Given the description of an element on the screen output the (x, y) to click on. 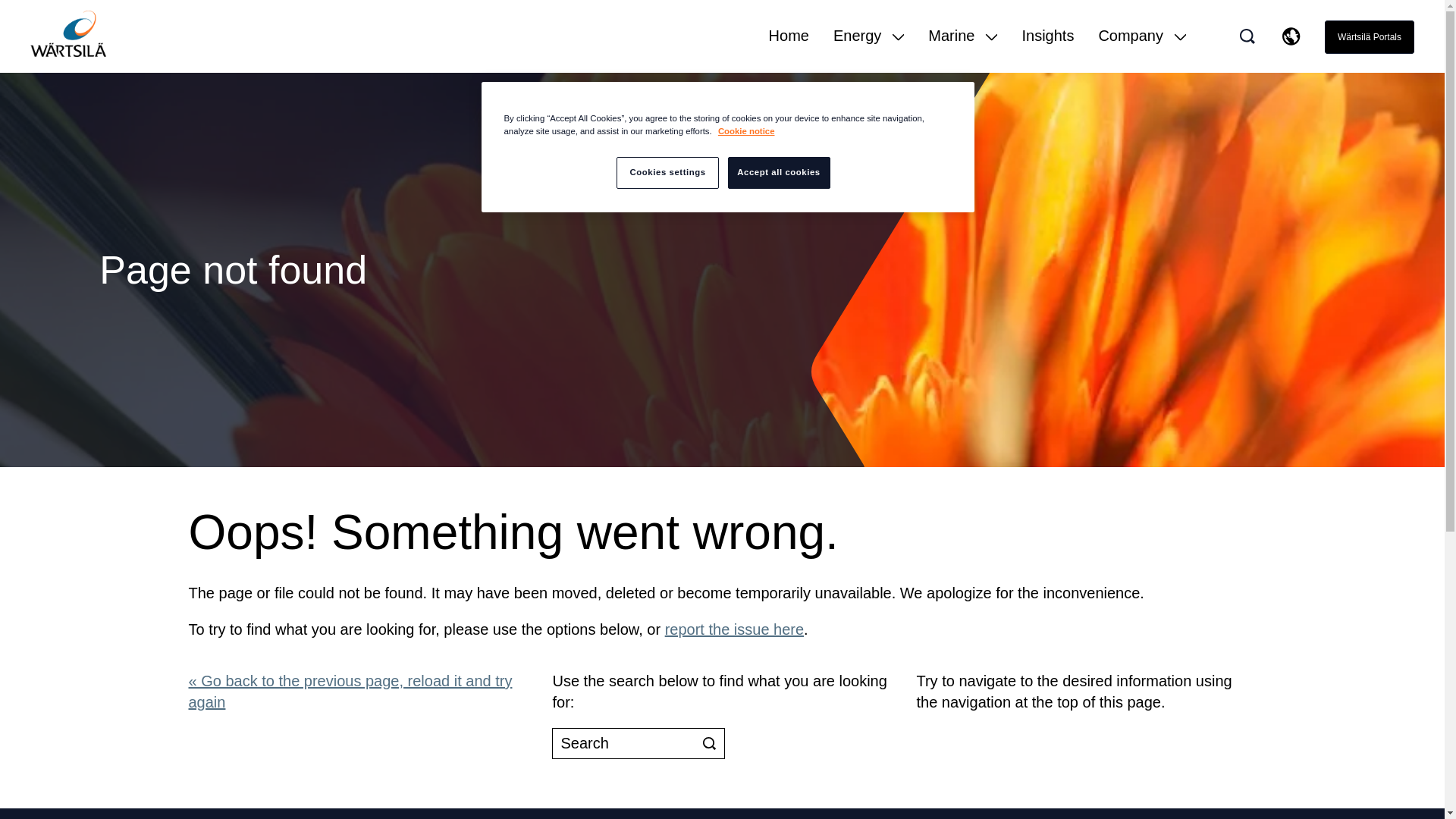
Cookie notice (745, 130)
Home (788, 48)
Select country (1291, 36)
report the issue here (734, 629)
Company (1141, 48)
Accept all cookies (778, 173)
Search input (638, 743)
Energy (868, 48)
Cookies settings (667, 173)
Insights (1048, 48)
Marine (962, 48)
